Given the description of an element on the screen output the (x, y) to click on. 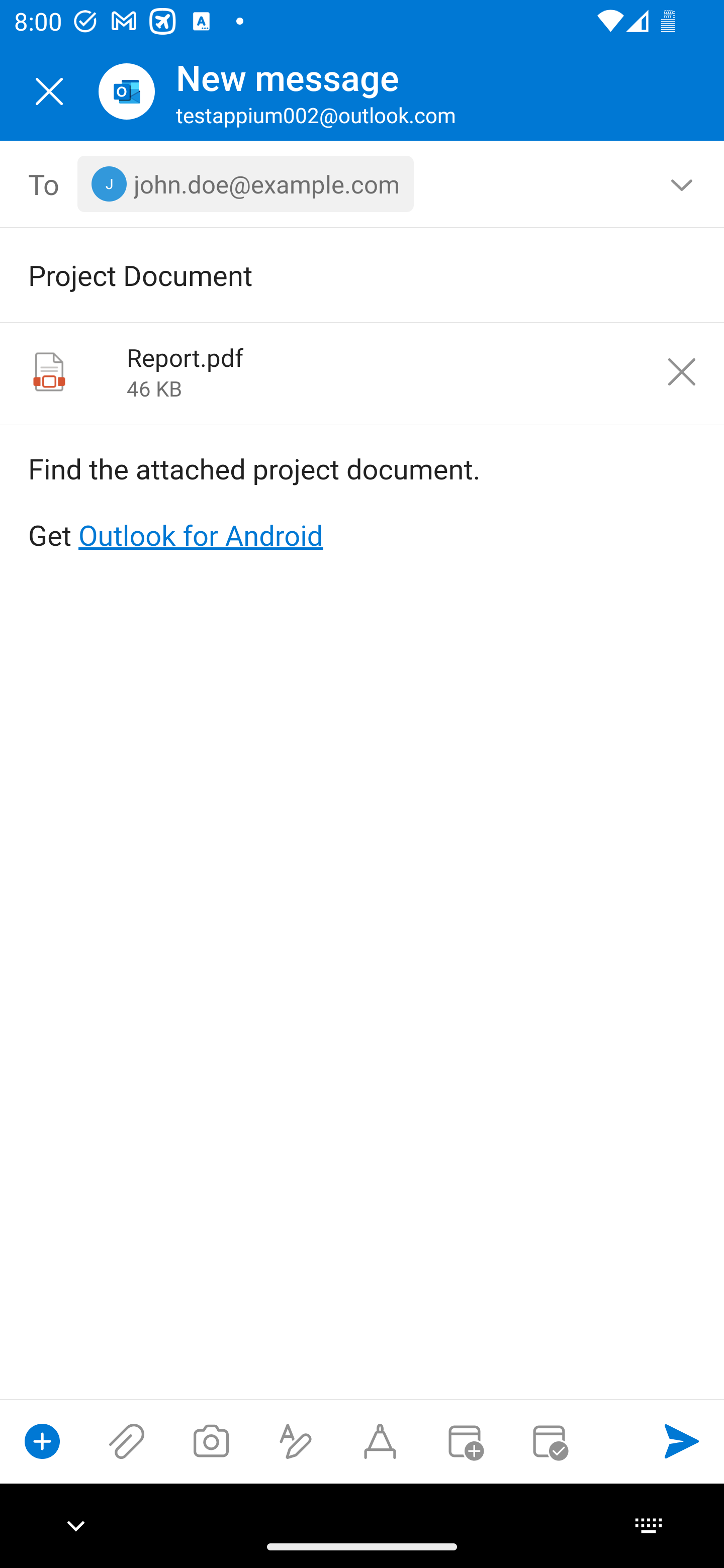
Close (49, 91)
To, 1 recipient <john.doe@example.com> (362, 184)
Project Document (333, 274)
Report.pdf 46 KB Remove attachment Report.pdf (362, 373)
Remove attachment Report.pdf (681, 372)
Show compose options (42, 1440)
Attach files (126, 1440)
Take a photo (210, 1440)
Show formatting options (295, 1440)
Start Ink compose (380, 1440)
Convert to event (464, 1440)
Send availability (548, 1440)
Send (681, 1440)
